Given the description of an element on the screen output the (x, y) to click on. 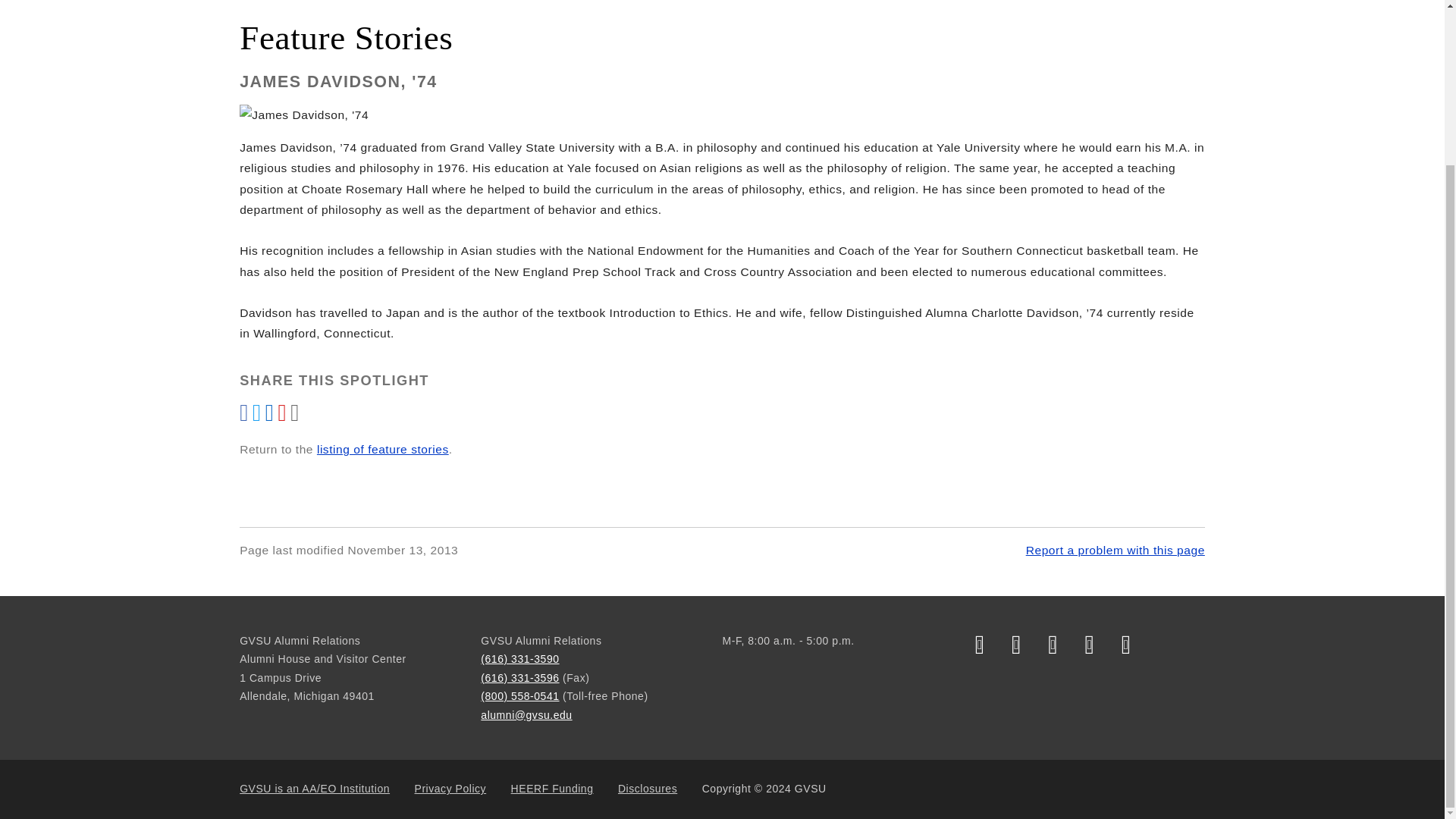
Share to LinkedIn (271, 416)
Share to Facebook (245, 416)
Share via email (283, 416)
Share to Twitter (257, 416)
